Given the description of an element on the screen output the (x, y) to click on. 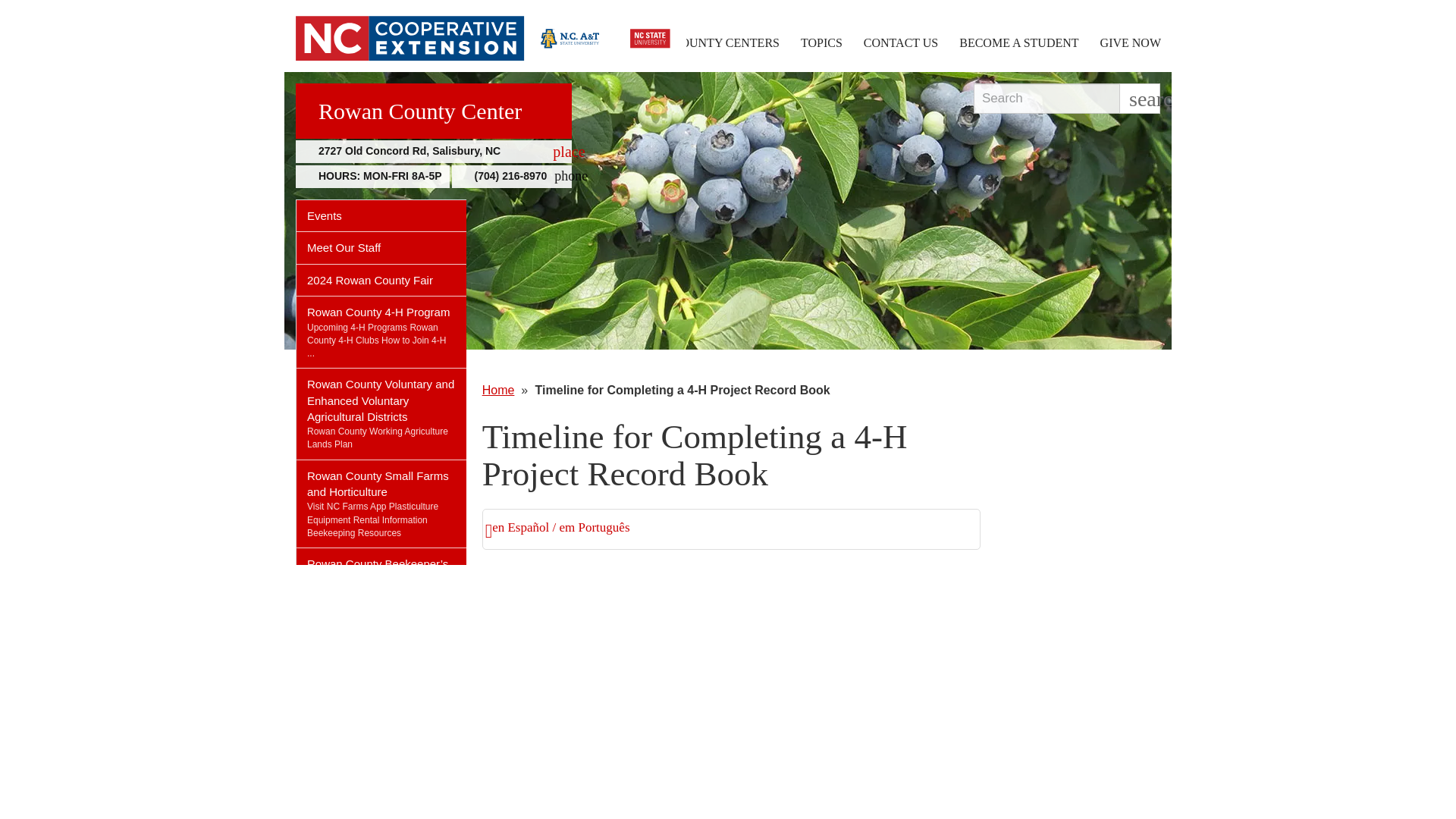
How to Join 4-H (376, 346)
CONTACT US (901, 42)
Rowan County Center (433, 110)
2024 Rowan County Fair (381, 279)
Rowan County Small Farms and Horticulture (381, 480)
Beekeeping Resources (354, 532)
TOPICS (821, 42)
Meet Our Staff (433, 151)
